Given the description of an element on the screen output the (x, y) to click on. 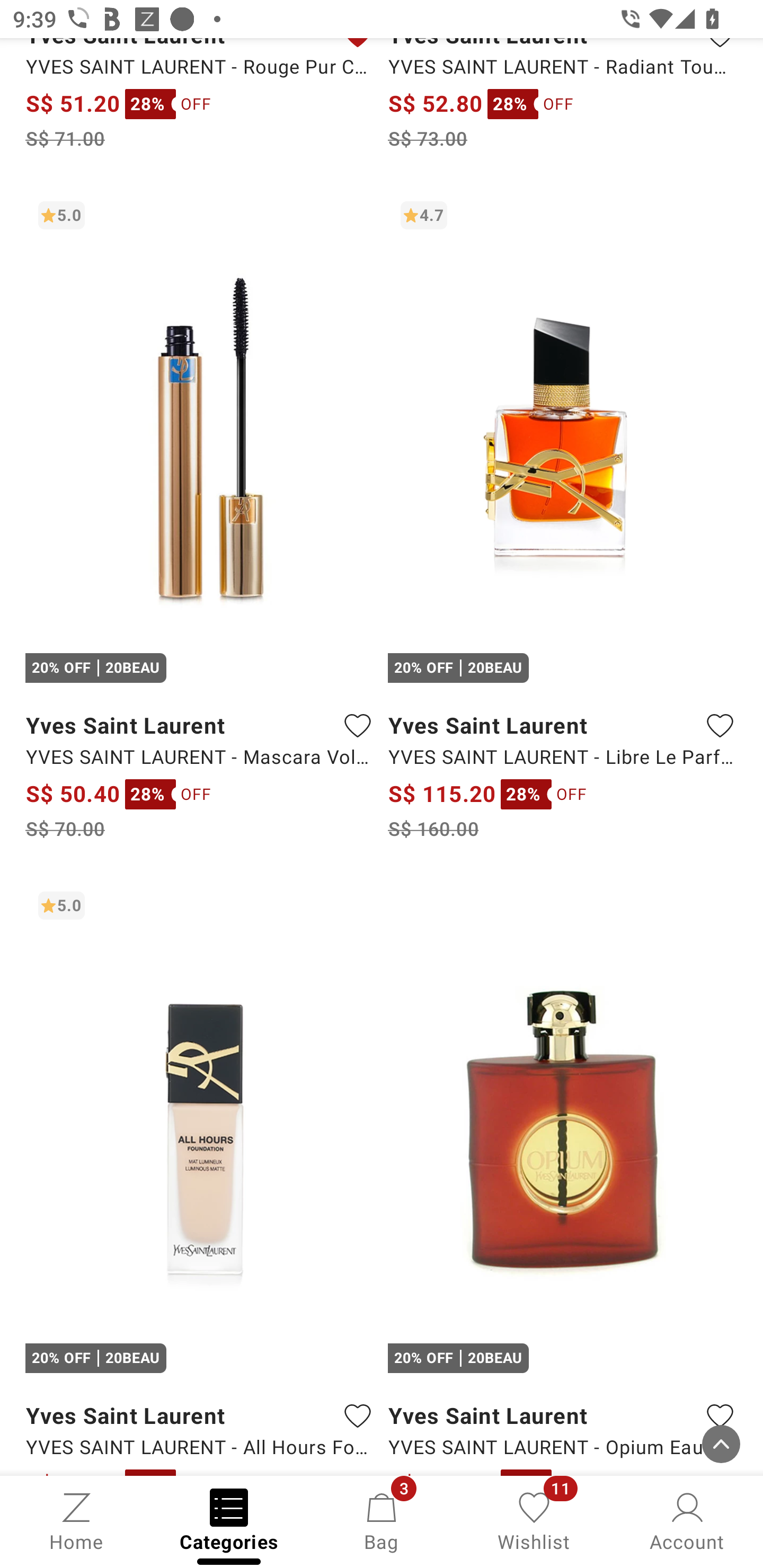
Home (76, 1519)
Bag, 3 new notifications Bag (381, 1519)
Wishlist, 11 new notifications Wishlist (533, 1519)
Account (686, 1519)
